Given the description of an element on the screen output the (x, y) to click on. 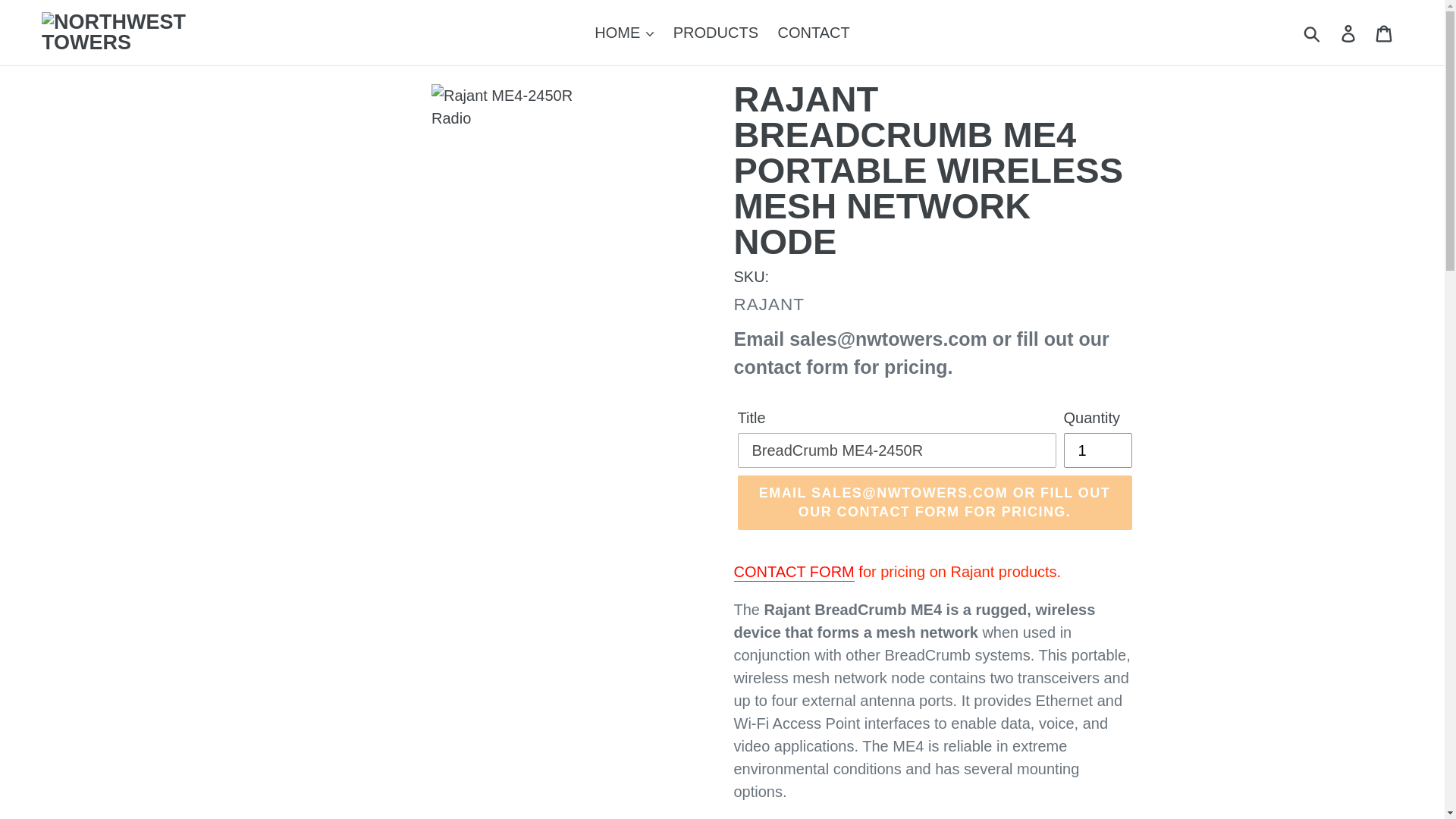
Log in (1349, 32)
1 (1096, 450)
Submit (1313, 32)
CONTACT FORM (793, 572)
CONTACT (813, 31)
Cart (1385, 32)
PRODUCTS (715, 31)
